Given the description of an element on the screen output the (x, y) to click on. 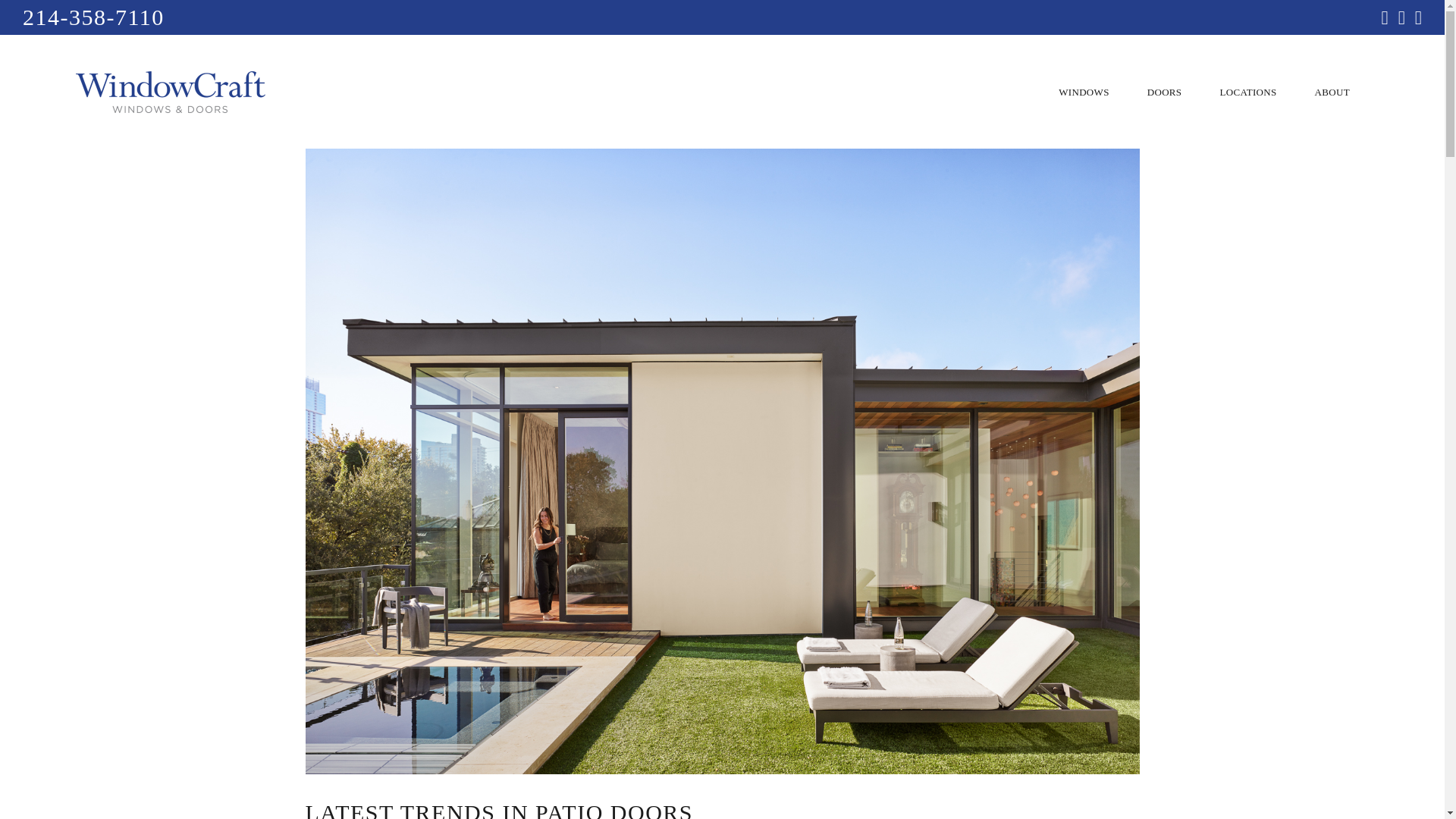
214-358-7110 (93, 16)
